Given the description of an element on the screen output the (x, y) to click on. 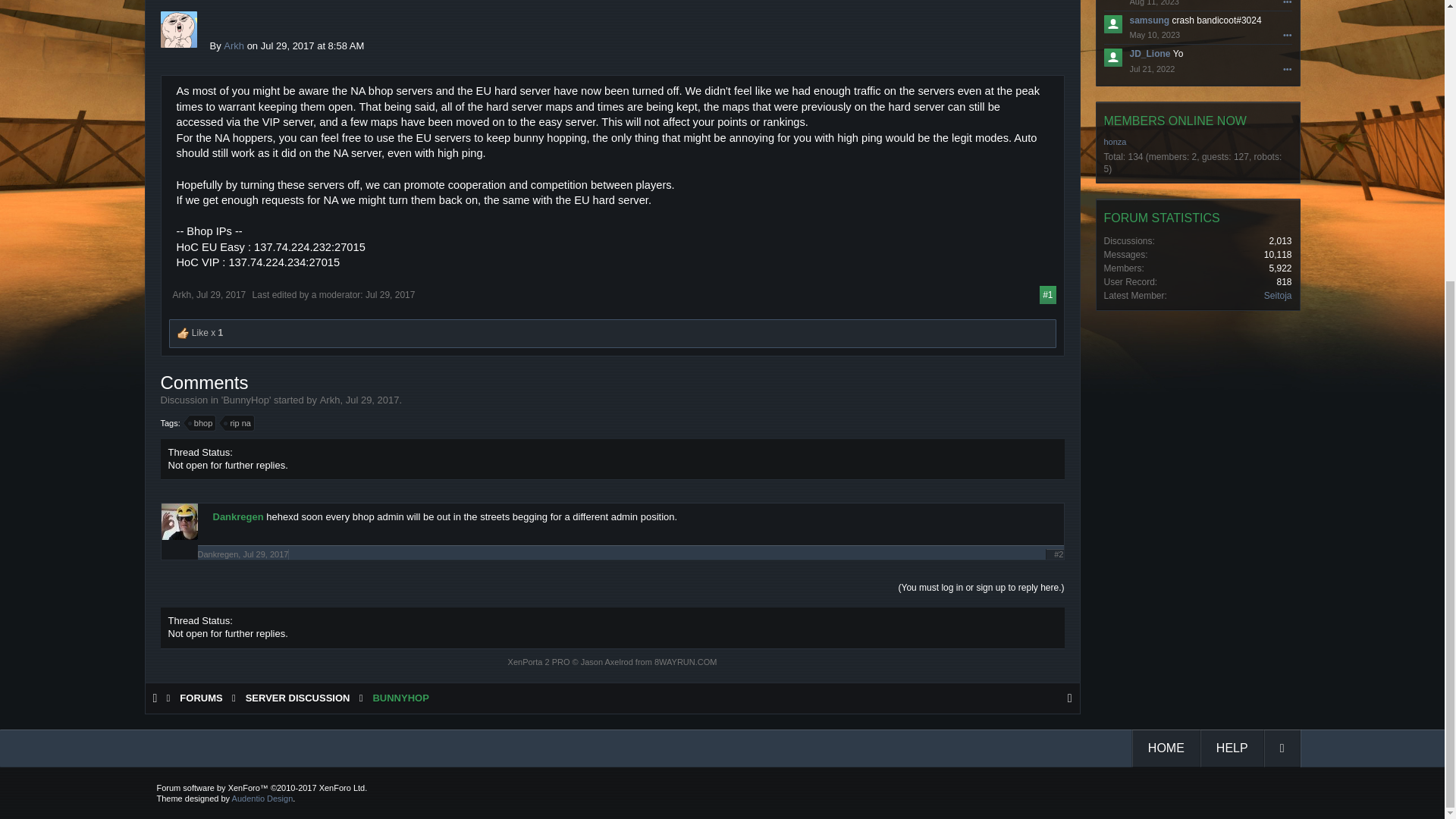
Permalink (221, 294)
Permalink (1047, 294)
Jul 29, 2017 at 12:37 PM (389, 294)
Like (183, 333)
